Given the description of an element on the screen output the (x, y) to click on. 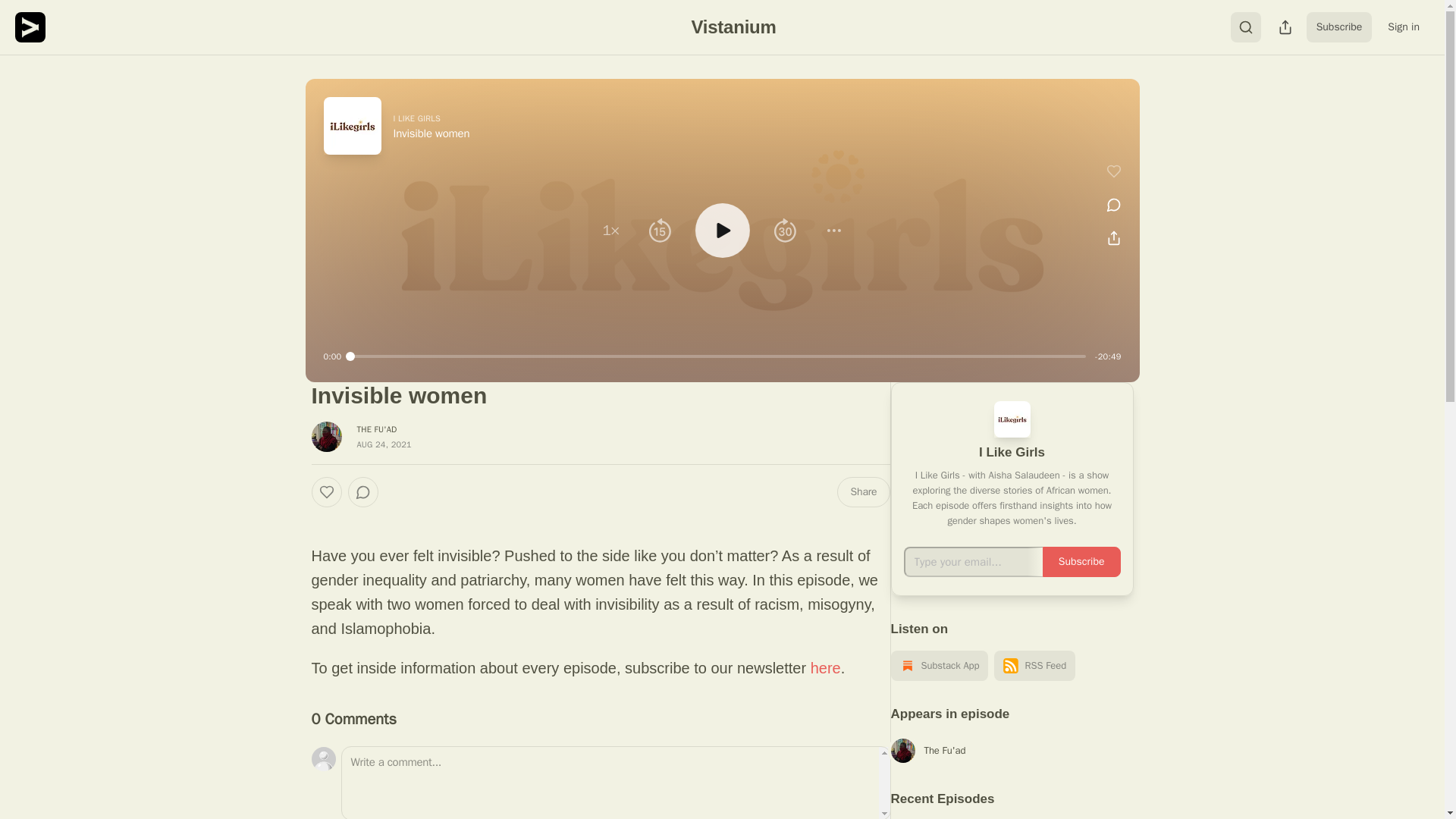
Subscribe (1339, 27)
Sign in (1403, 27)
Share (863, 491)
Vistanium (733, 26)
THE FU'AD (376, 429)
here (825, 668)
